Given the description of an element on the screen output the (x, y) to click on. 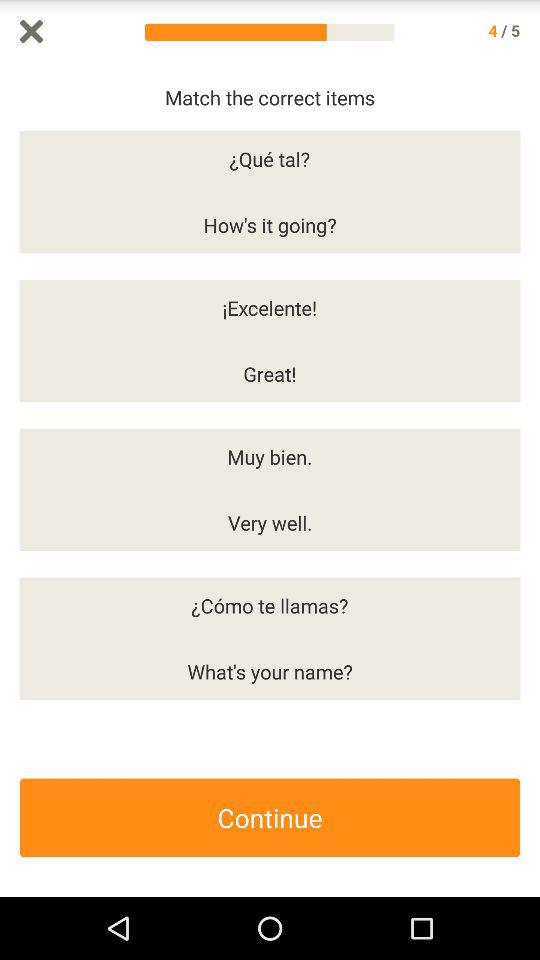
launch icon at the top left corner (31, 31)
